Given the description of an element on the screen output the (x, y) to click on. 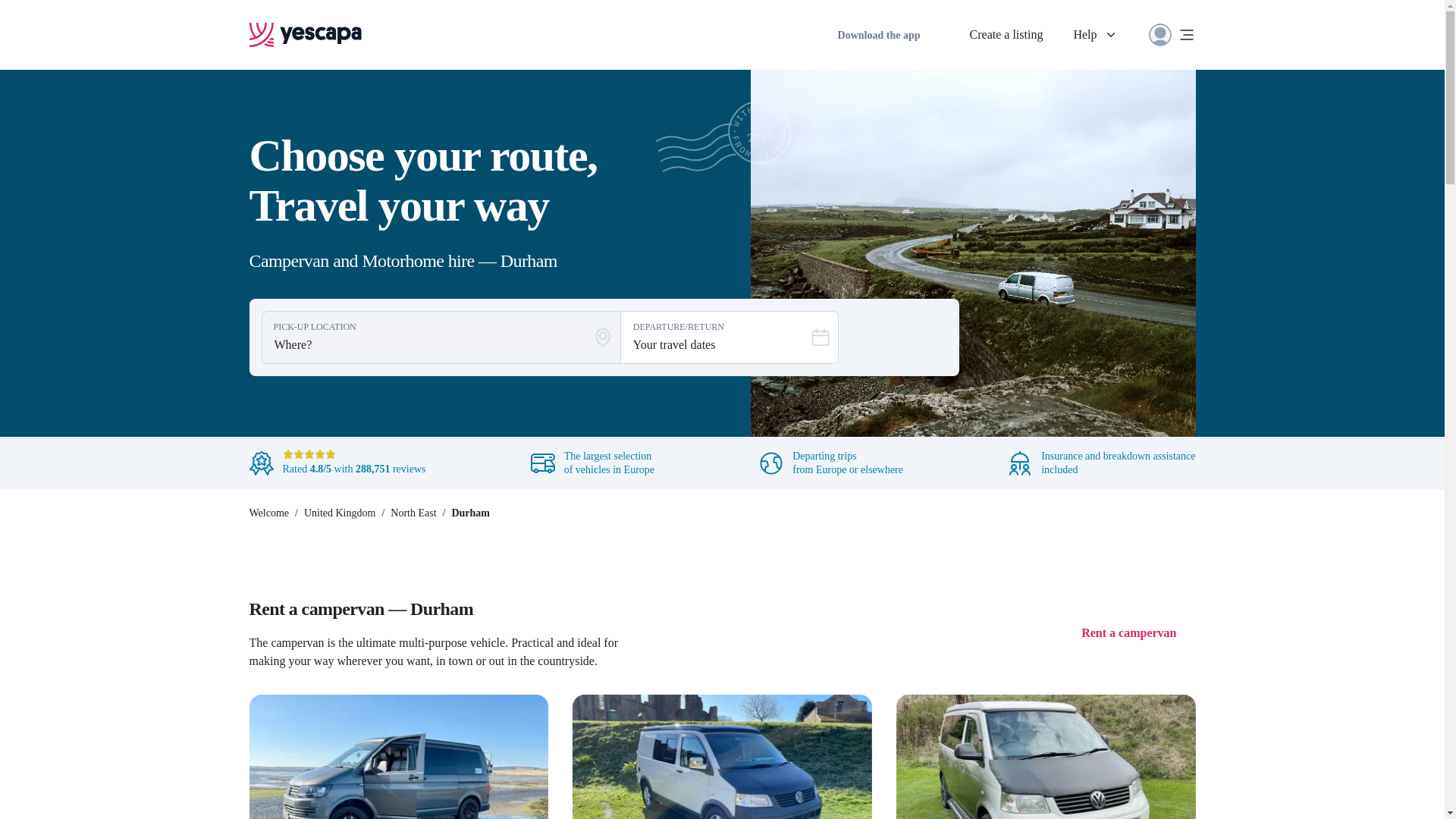
Welcome (268, 512)
Create a listing (1006, 34)
United Kingdom (339, 512)
North East (412, 512)
Download the app (878, 34)
Your travel dates (713, 337)
Rent a campervan (1128, 632)
Search (898, 337)
Durham (470, 512)
Help (1095, 34)
